Given the description of an element on the screen output the (x, y) to click on. 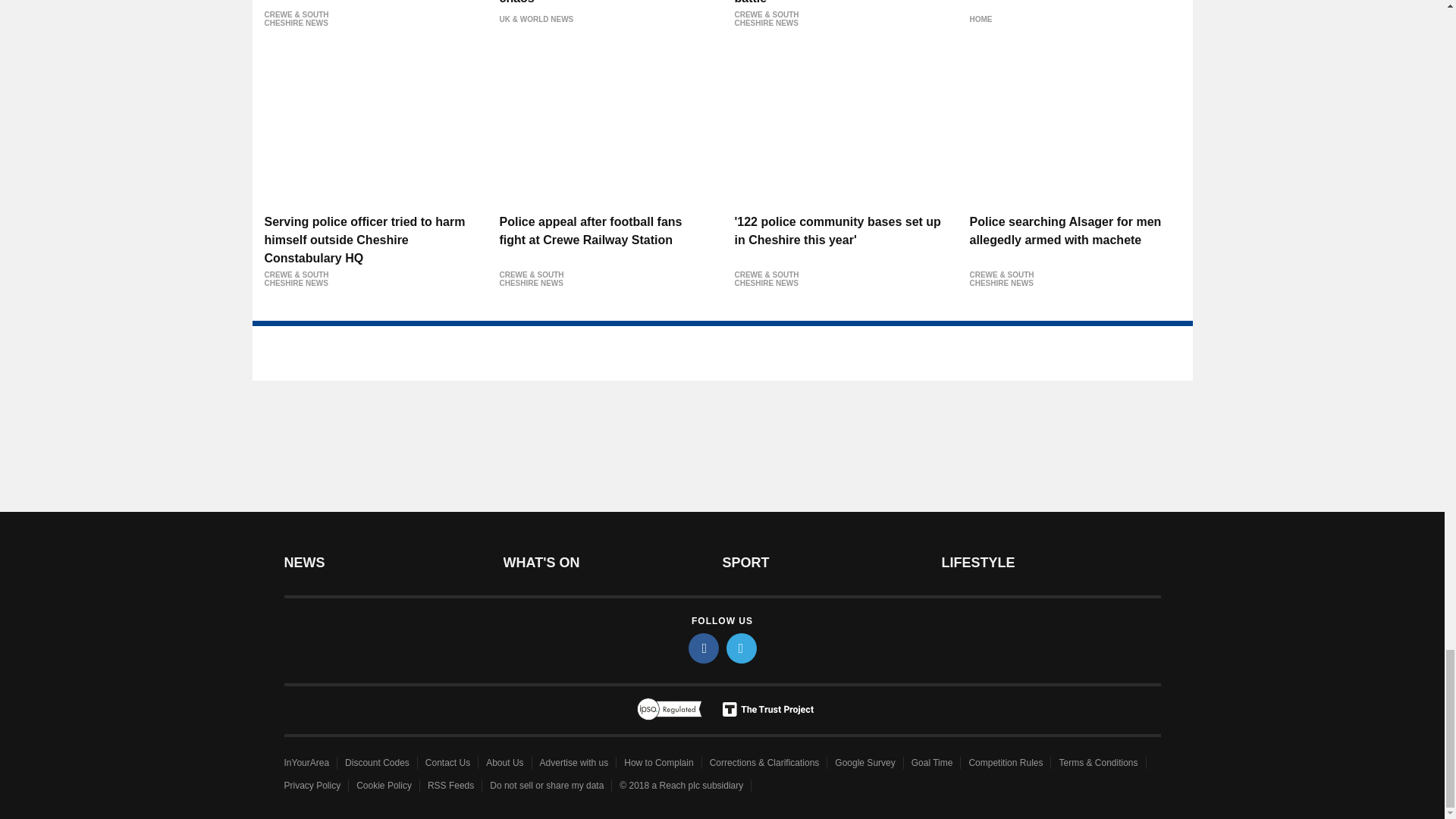
twitter (741, 648)
facebook (703, 648)
